Given the description of an element on the screen output the (x, y) to click on. 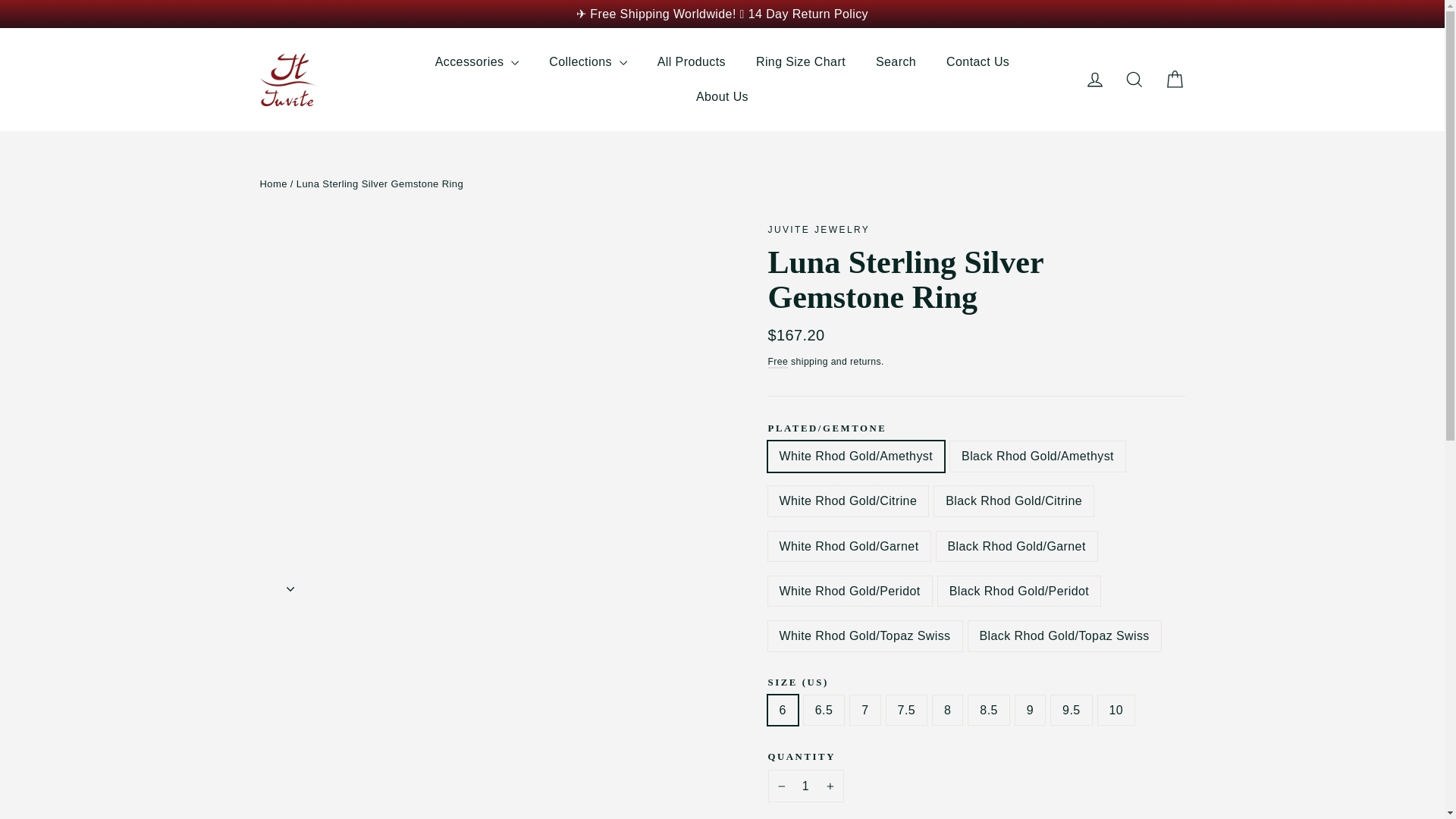
1 (805, 786)
Juvite Jewelry (818, 229)
Collections (588, 62)
Accessories (477, 62)
Back to the frontpage (272, 183)
